Given the description of an element on the screen output the (x, y) to click on. 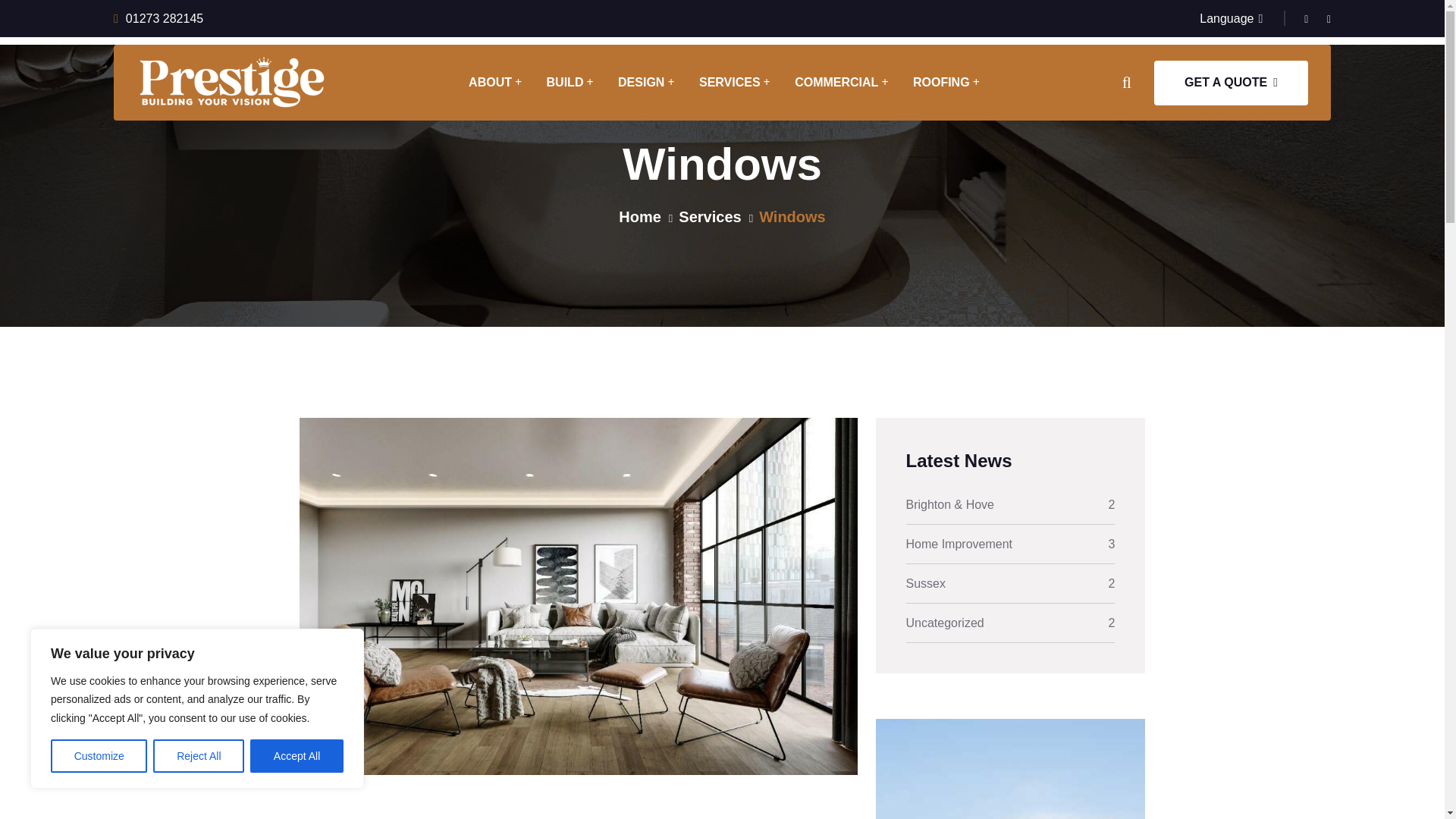
Accept All (296, 756)
Windows (791, 216)
Home (639, 216)
Customize (98, 756)
Services (709, 216)
Reject All (198, 756)
